Given the description of an element on the screen output the (x, y) to click on. 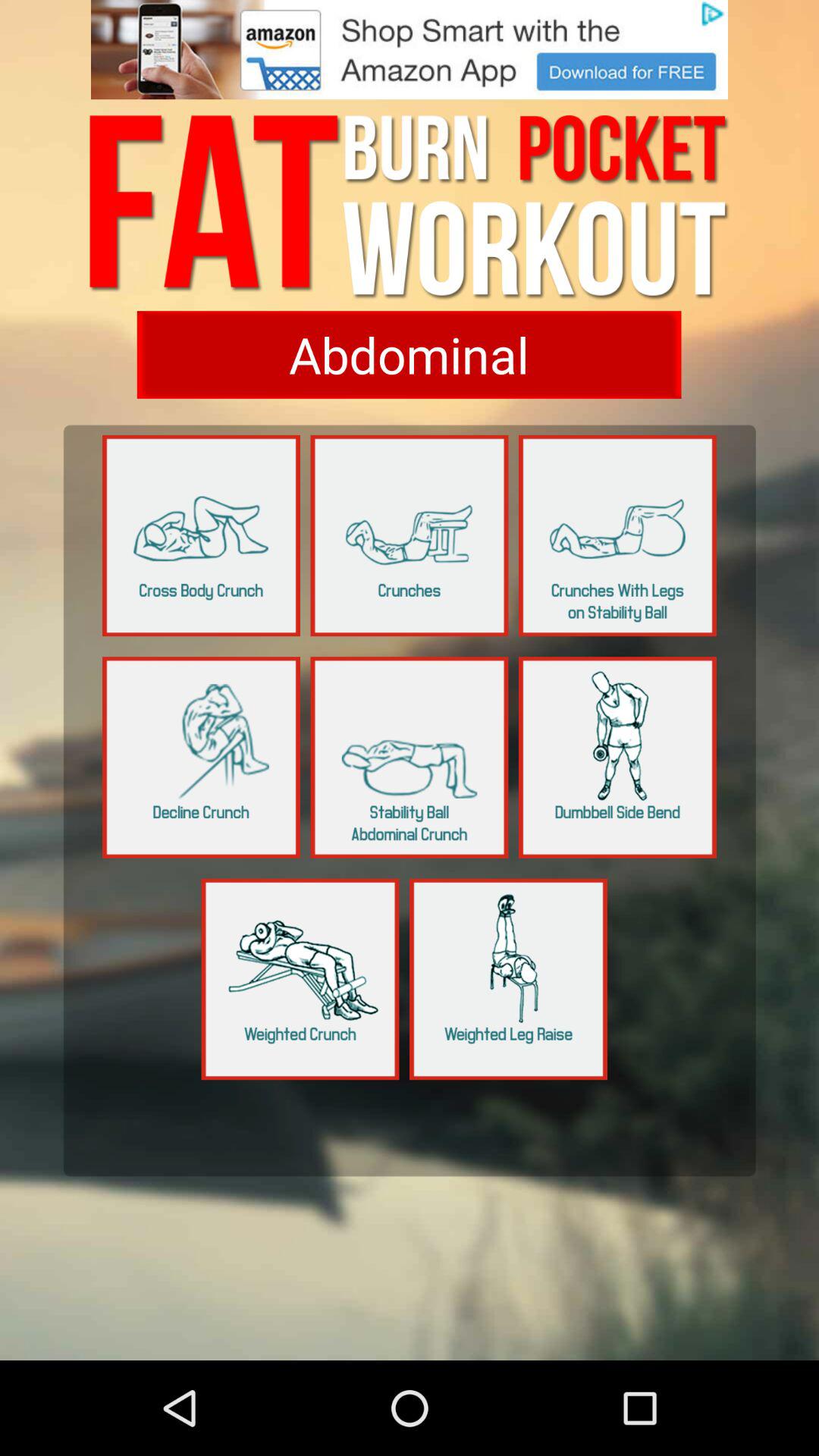
weighted leg raises animated visual (508, 979)
